Given the description of an element on the screen output the (x, y) to click on. 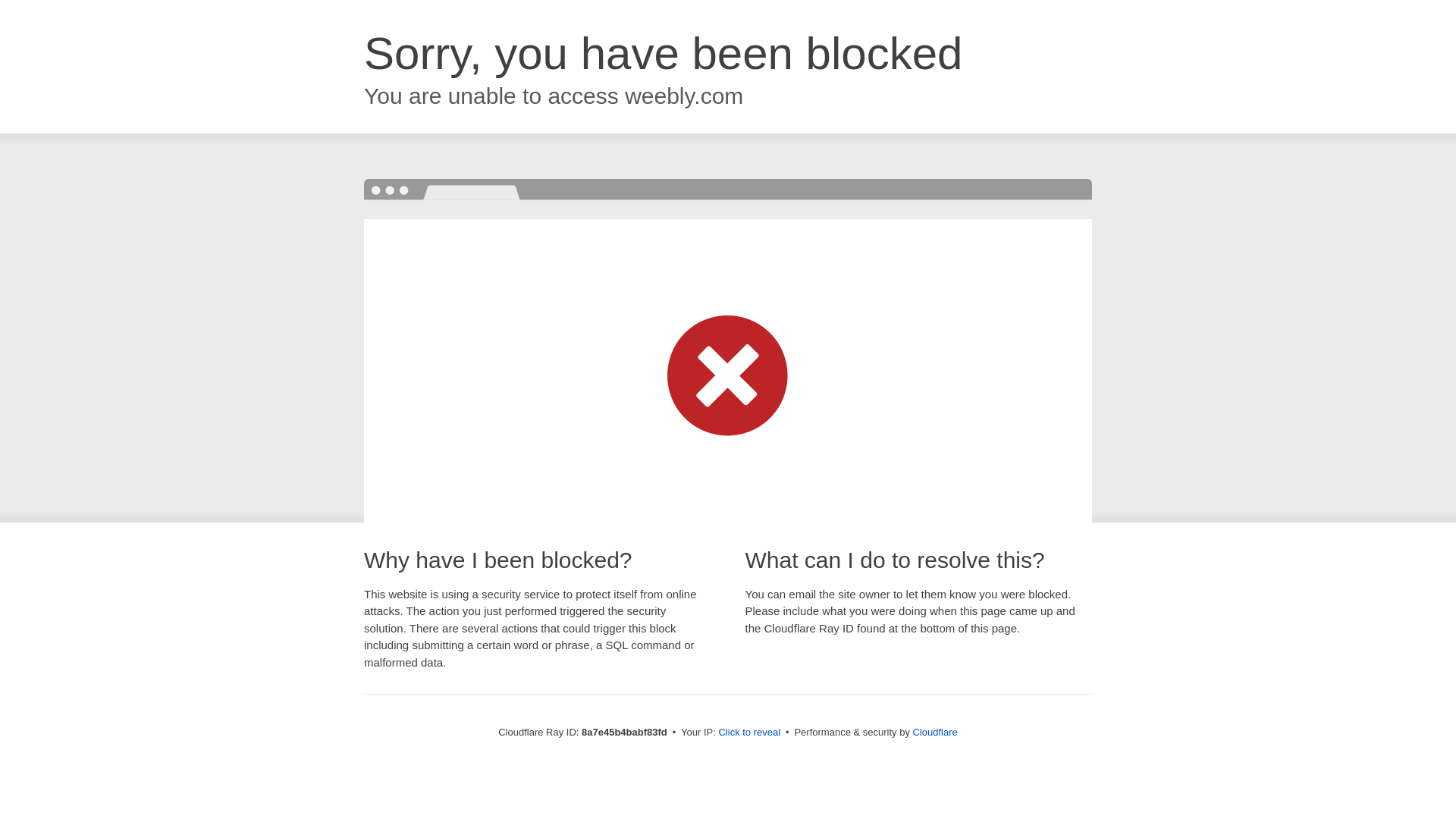
Cloudflare (935, 731)
Click to reveal (748, 732)
